Given the description of an element on the screen output the (x, y) to click on. 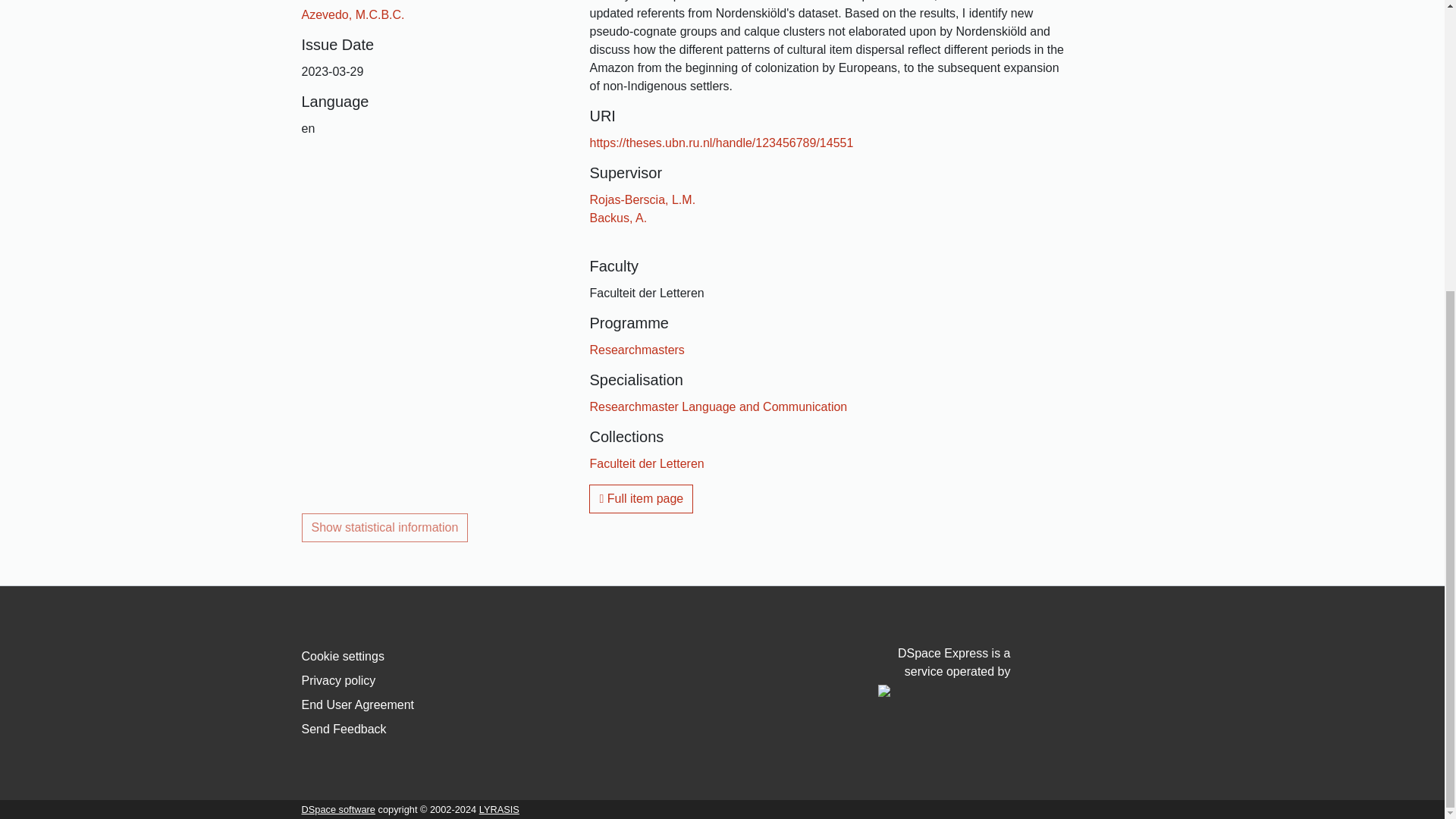
Researchmasters (636, 349)
Privacy policy (338, 680)
Azevedo, M.C.B.C. (352, 14)
DSpace Express is a service operated by (943, 671)
Show statistical information (384, 527)
Faculteit der Letteren (646, 463)
Researchmaster Language and Communication (718, 406)
Backus, A. (617, 217)
Cookie settings (342, 656)
LYRASIS (499, 808)
Send Feedback (344, 728)
End User Agreement (357, 704)
Full item page (641, 498)
DSpace software (338, 808)
Rojas-Berscia, L.M. (642, 199)
